Given the description of an element on the screen output the (x, y) to click on. 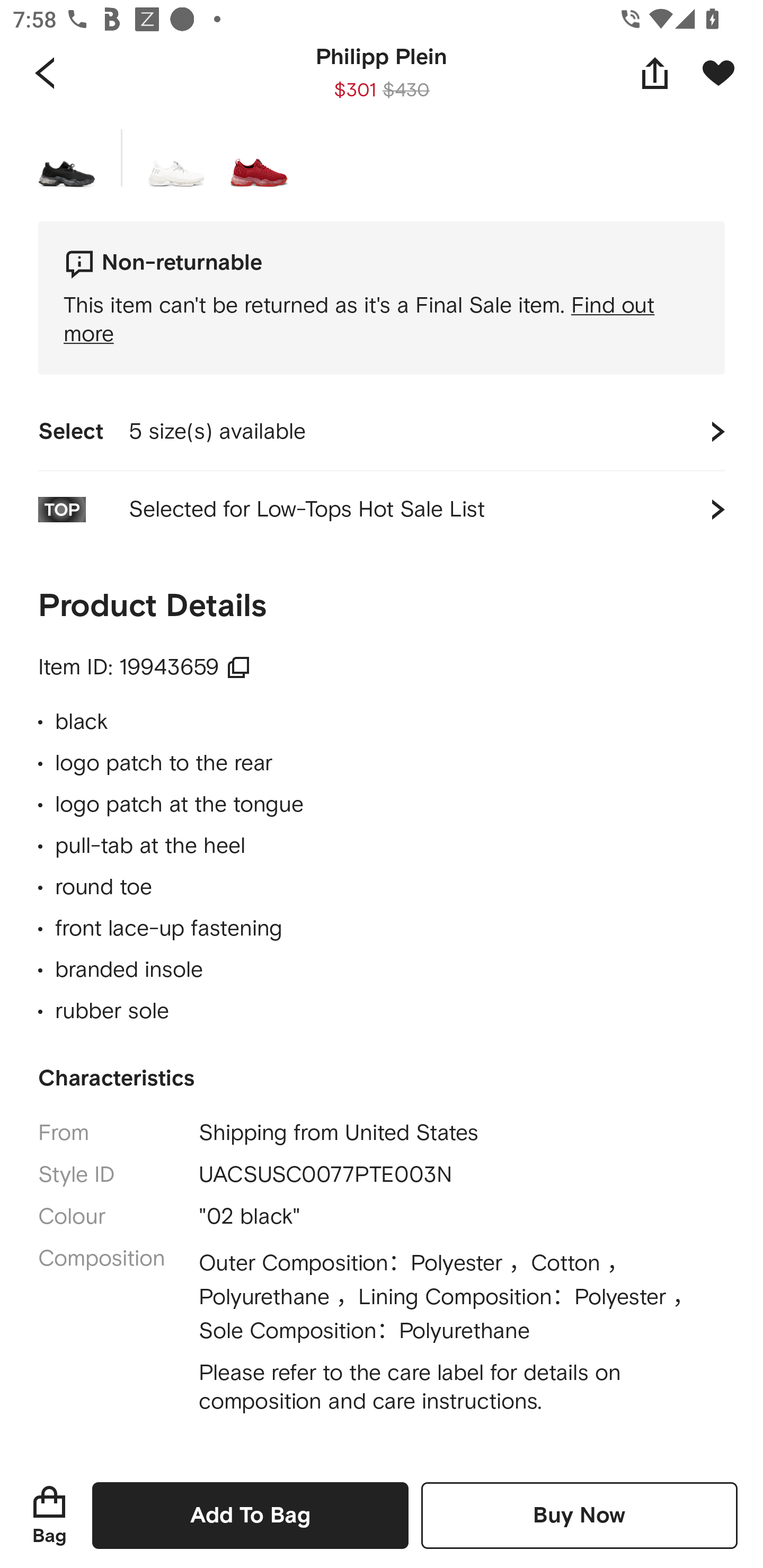
Select 5 size(s) available (381, 431)
Selected for Low-Tops Hot Sale List (381, 509)
Item ID: 19943659 (144, 667)
Bag (49, 1515)
Add To Bag (250, 1515)
Buy Now (579, 1515)
